Given the description of an element on the screen output the (x, y) to click on. 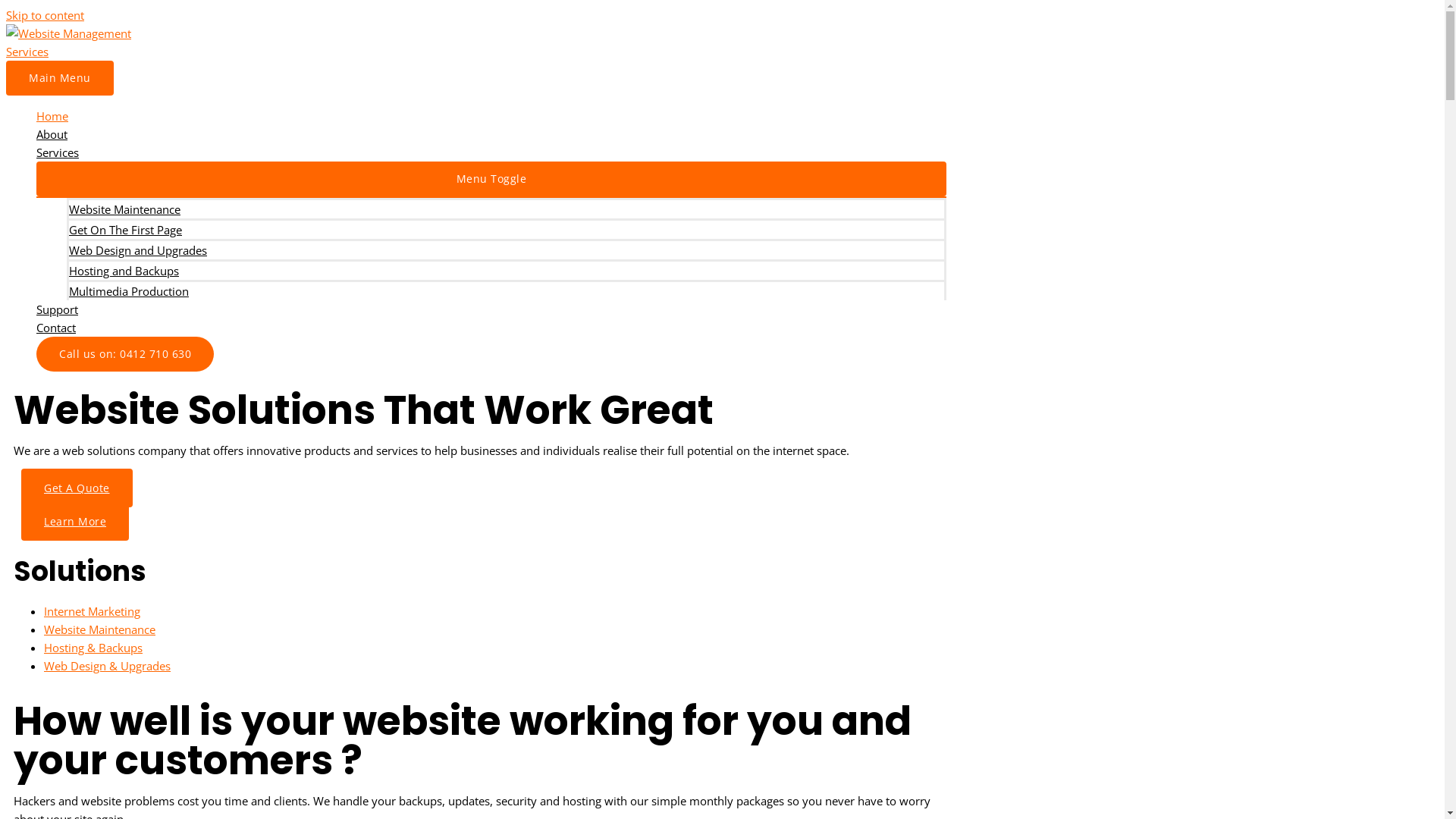
Main Menu Element type: text (59, 77)
About Element type: text (491, 134)
Web Design & Upgrades Element type: text (106, 665)
Get On The First Page Element type: text (506, 228)
Home Element type: text (491, 115)
Contact Element type: text (491, 327)
Support Element type: text (491, 309)
Menu Toggle Element type: text (491, 178)
Web Design and Upgrades Element type: text (506, 248)
Learn More Element type: text (74, 521)
Website Maintenance Element type: text (99, 629)
Call us on: 0412 710 630 Element type: text (124, 353)
Call us on: 0412 710 630 Element type: text (124, 352)
Multimedia Production Element type: text (506, 289)
Internet Marketing Element type: text (91, 610)
Services Element type: text (491, 152)
Hosting and Backups Element type: text (506, 269)
Hosting & Backups Element type: text (92, 647)
Skip to content Element type: text (45, 14)
Website Maintenance Element type: text (506, 207)
Get A Quote Element type: text (76, 487)
